Given the description of an element on the screen output the (x, y) to click on. 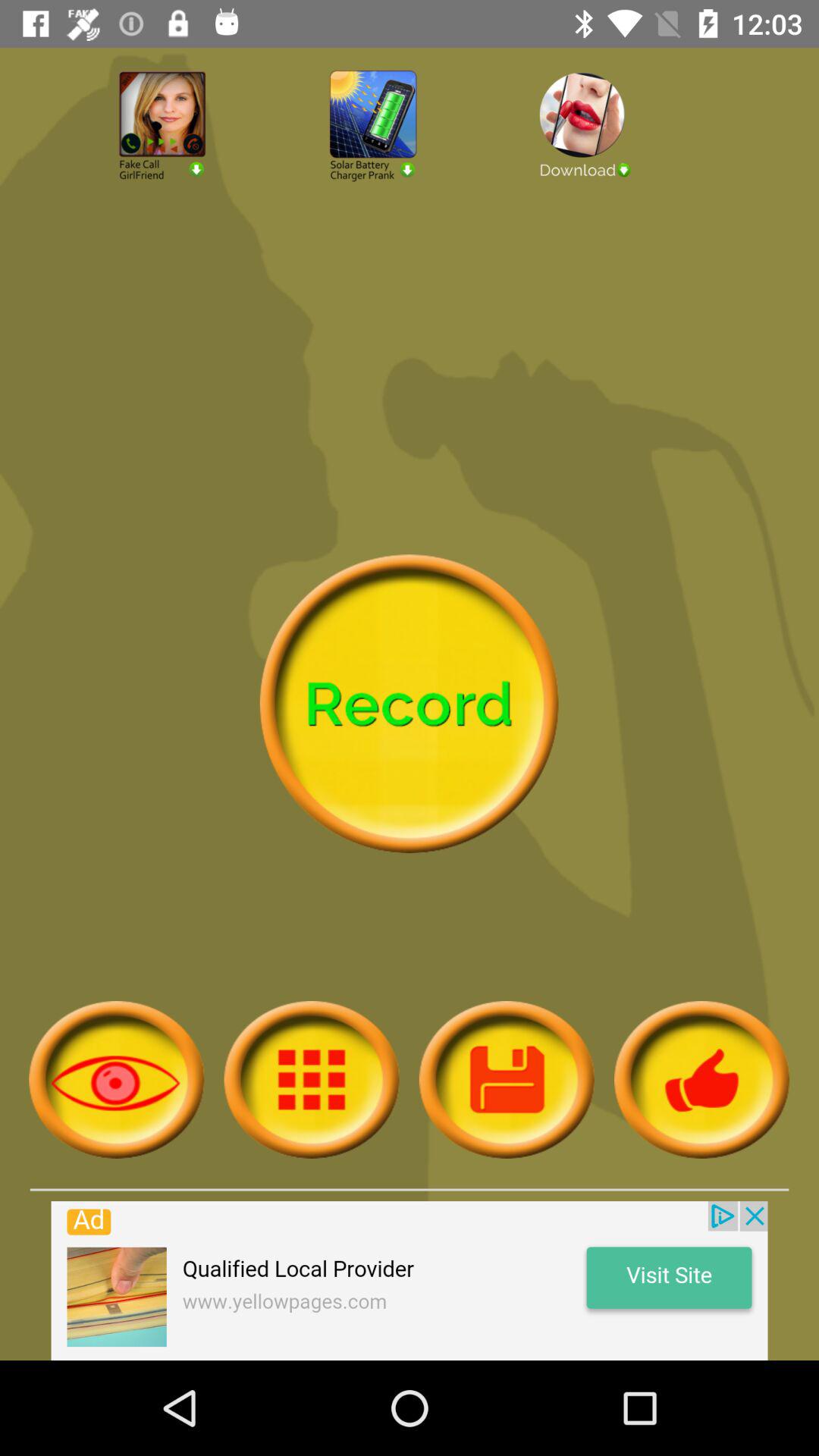
adv link (619, 166)
